Given the description of an element on the screen output the (x, y) to click on. 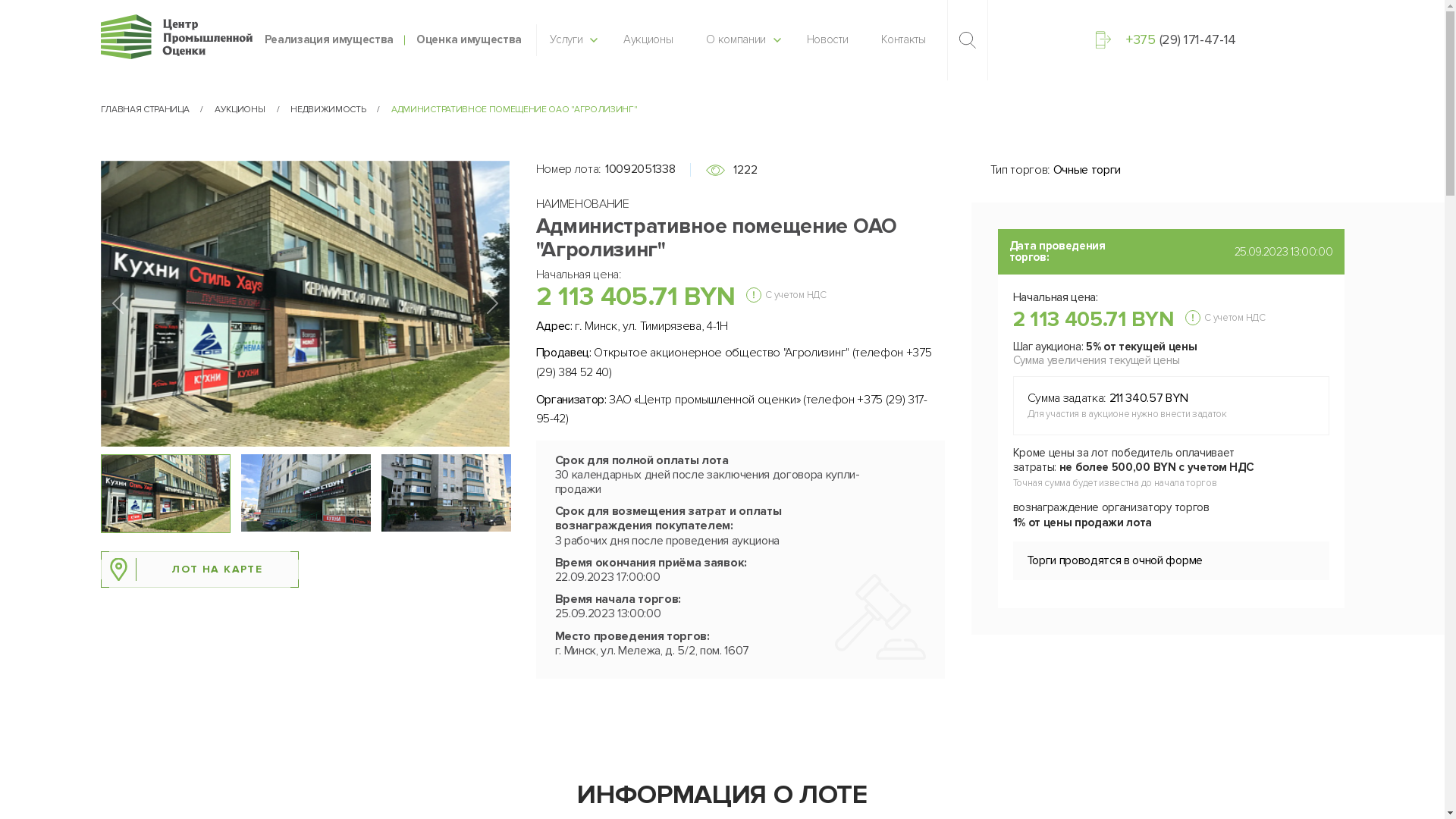
Next Element type: text (491, 303)
+375
(29) 171-47-14 Element type: text (1165, 39)
Previous Element type: text (117, 303)
